Given the description of an element on the screen output the (x, y) to click on. 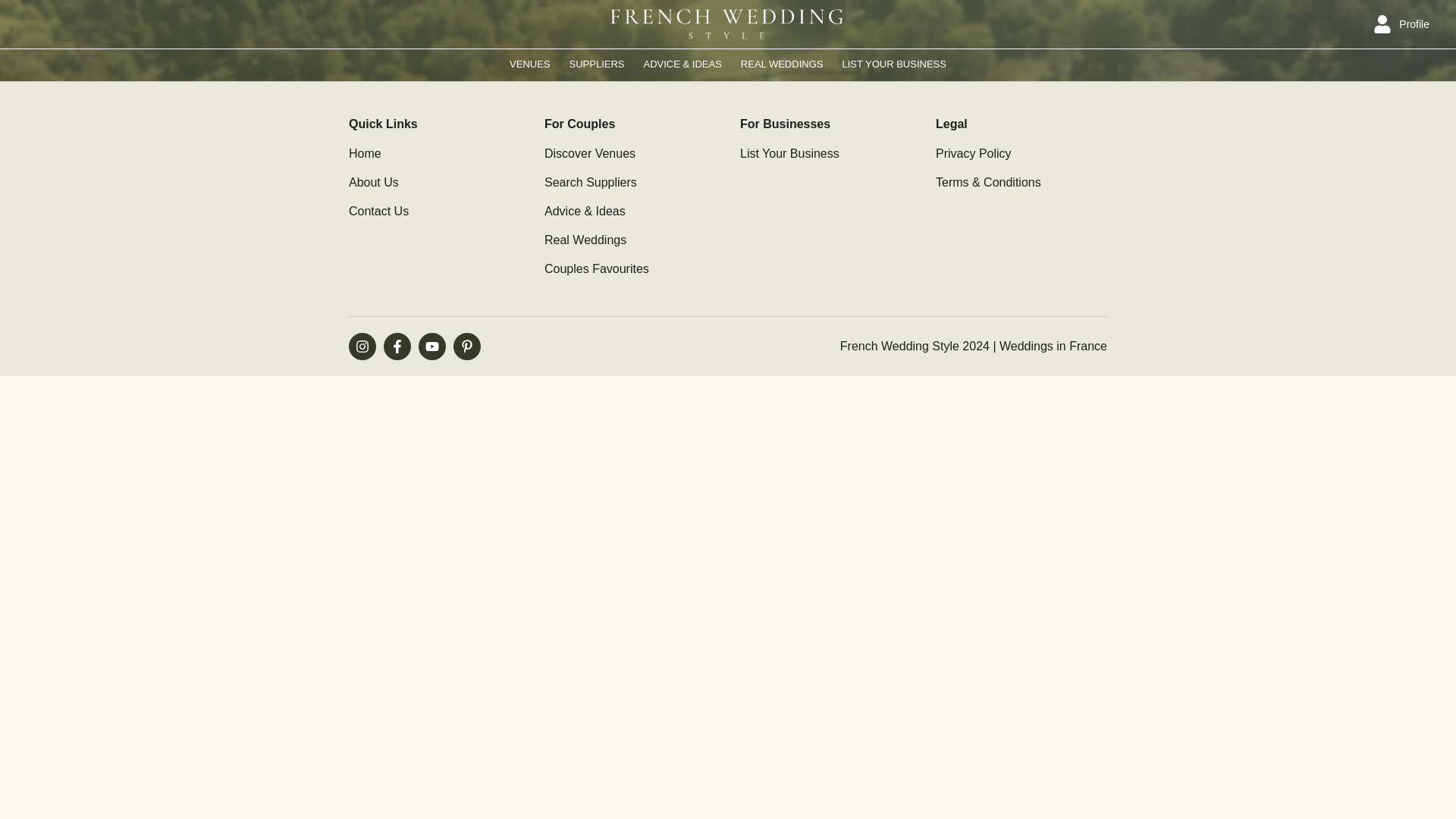
LIST YOUR BUSINESS (893, 64)
VENUES (529, 64)
REAL WEDDINGS (782, 64)
SUPPLIERS (596, 64)
